Given the description of an element on the screen output the (x, y) to click on. 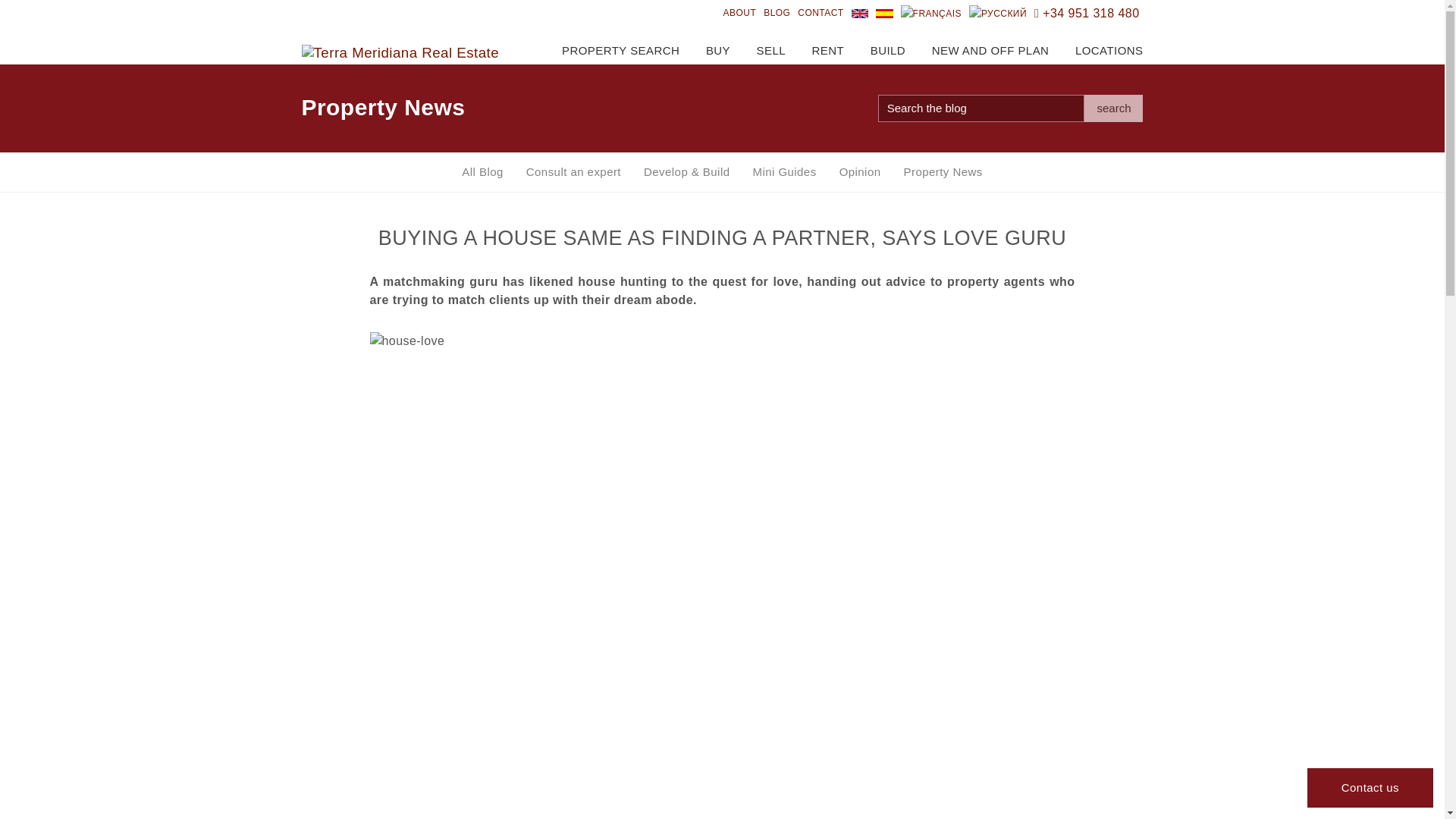
Buying a house same as finding a partner, says love guru (860, 13)
